Given the description of an element on the screen output the (x, y) to click on. 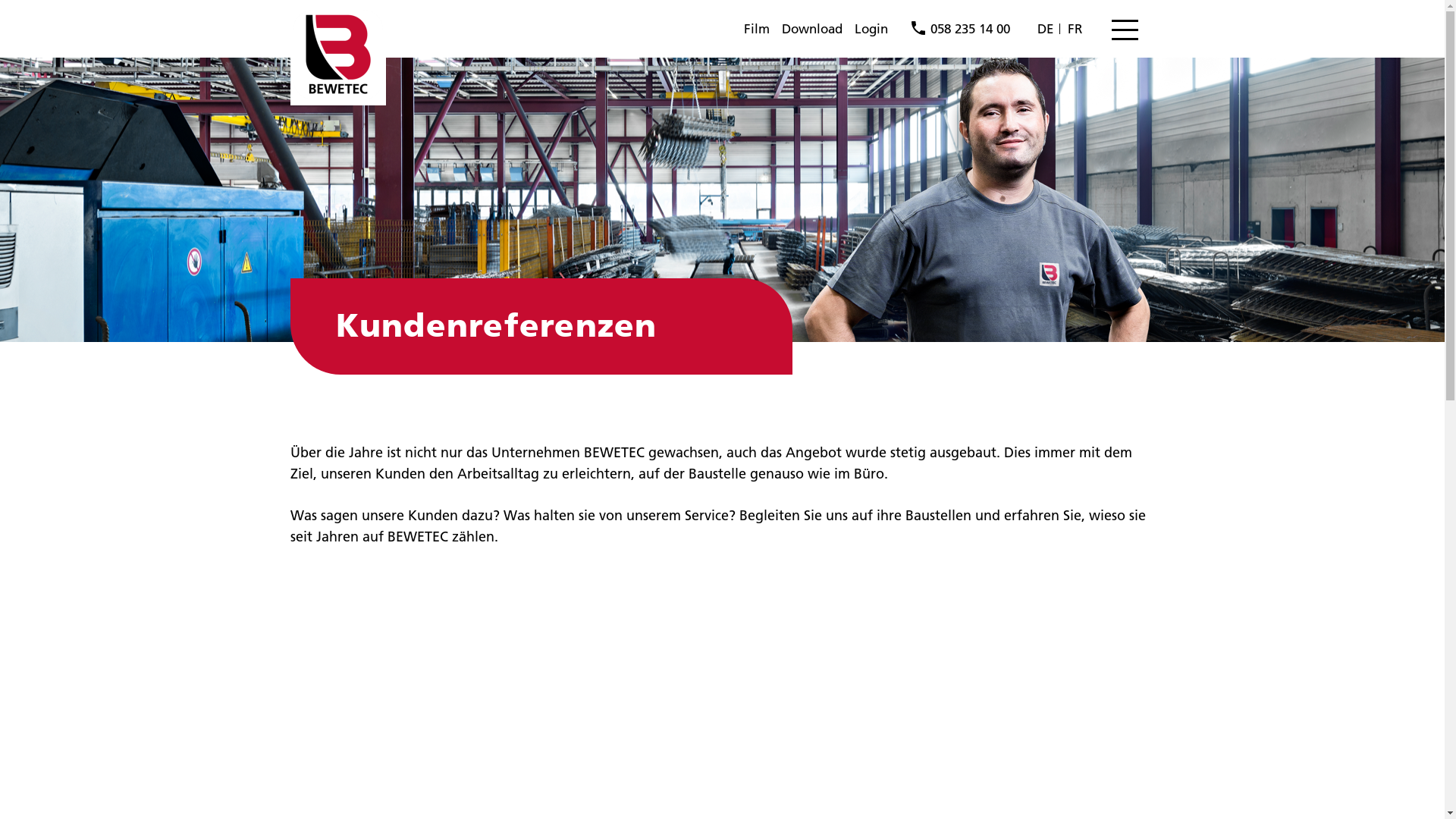
Film Element type: text (756, 28)
058 235 14 00 Element type: text (960, 28)
Login Element type: text (871, 28)
FR Element type: text (1074, 28)
BEWETEC Testimonial: Willi Bau AG (deutsch) Element type: hover (478, 674)
Download Element type: text (811, 28)
